Given the description of an element on the screen output the (x, y) to click on. 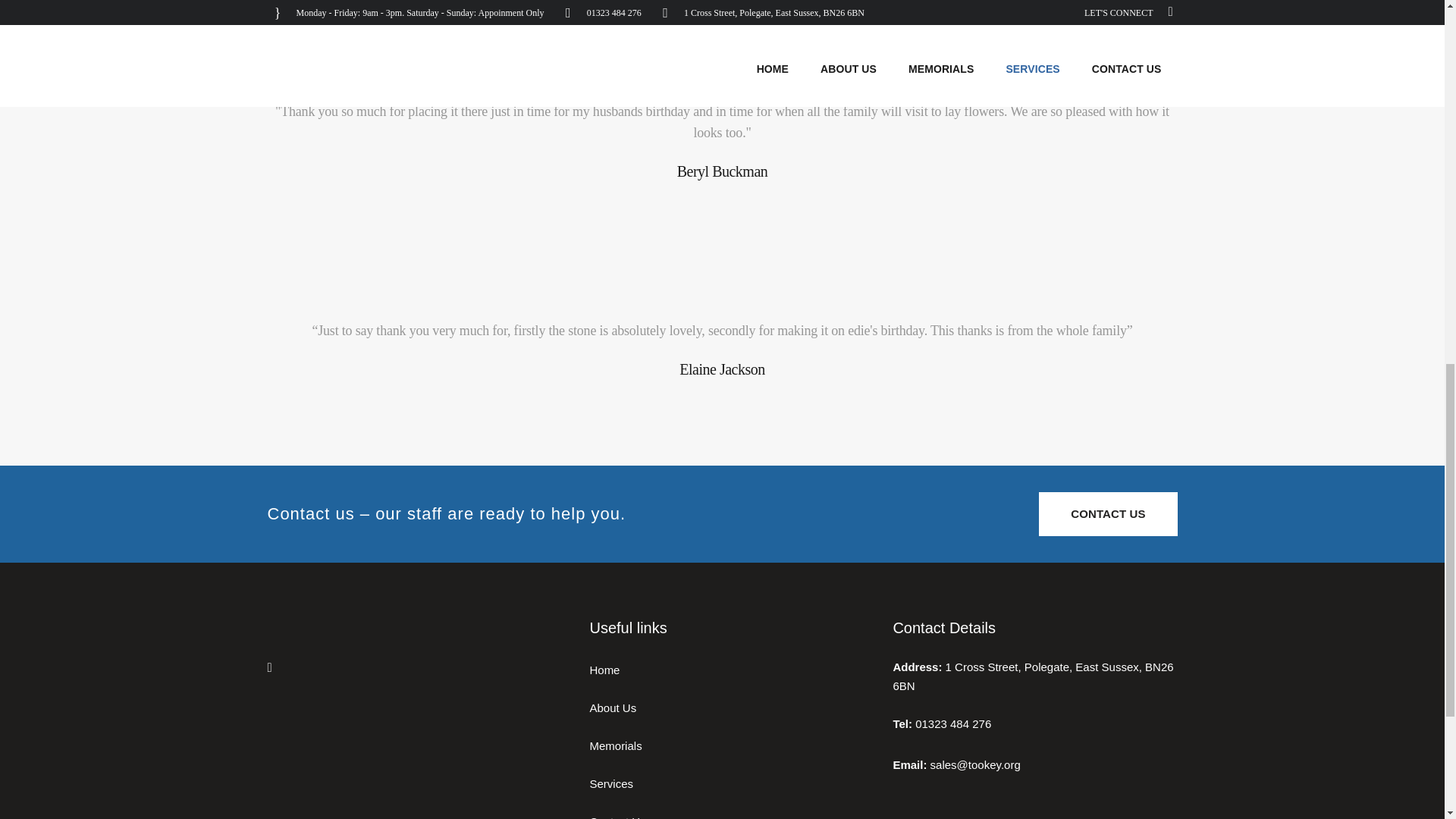
Memorials (729, 745)
Contact Us (729, 814)
CONTACT US (1107, 514)
About Us (729, 707)
Home (729, 669)
Services (729, 783)
